Given the description of an element on the screen output the (x, y) to click on. 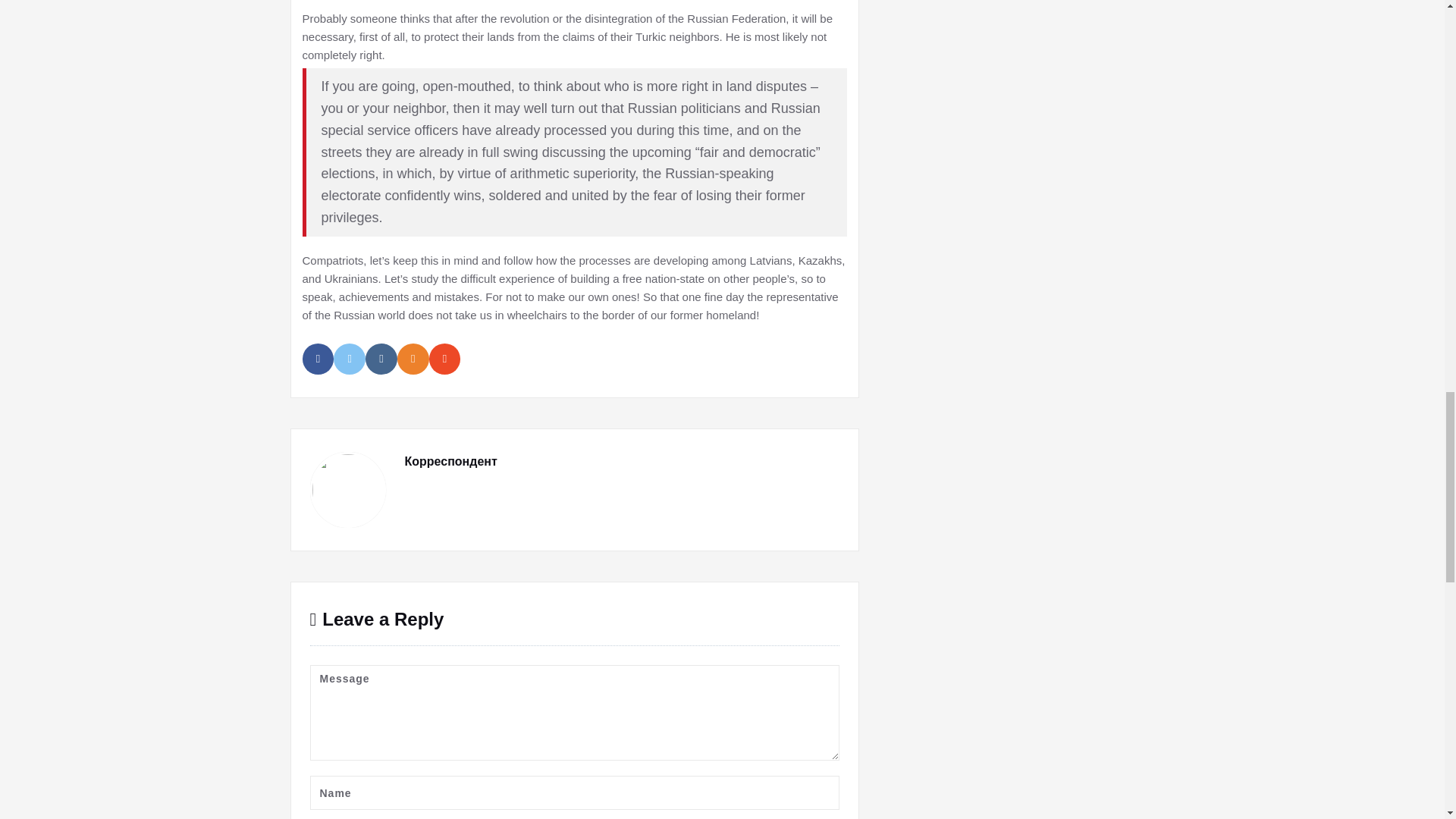
Odnoklassniki (413, 358)
Facebook (317, 358)
Twitter (349, 358)
VKontakte (381, 358)
Mail (445, 358)
